Given the description of an element on the screen output the (x, y) to click on. 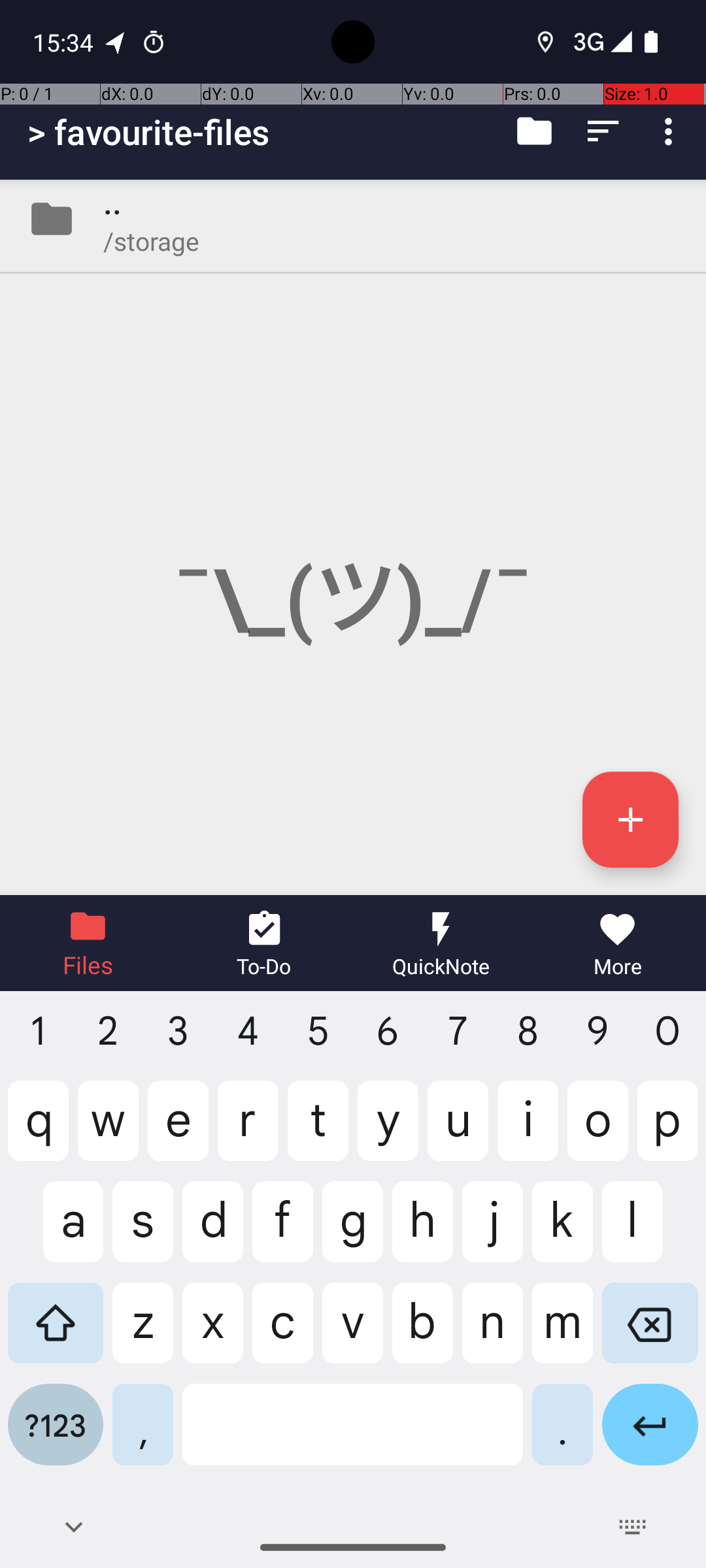
> favourite-files Element type: android.widget.TextView (148, 131)
